Given the description of an element on the screen output the (x, y) to click on. 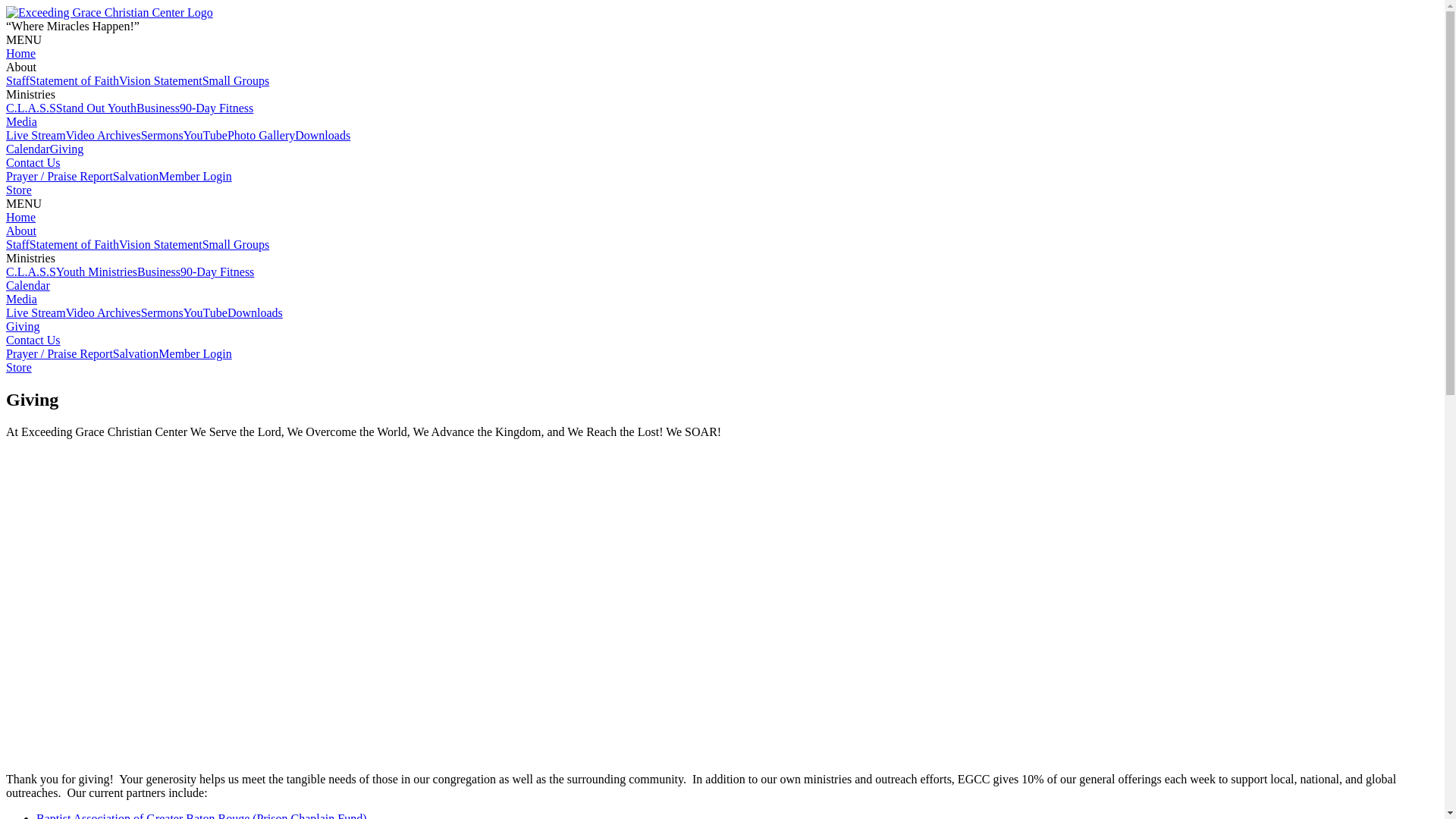
Photo Gallery Element type: text (260, 134)
Live Stream Element type: text (35, 312)
Downloads Element type: text (254, 312)
Prayer / Praise Report Element type: text (59, 353)
Sermons Element type: text (162, 134)
Giving Element type: text (66, 148)
Store Element type: text (18, 366)
Vision Statement Element type: text (160, 244)
Stand Out Youth Element type: text (96, 107)
Business Element type: text (157, 107)
Statement of Faith Element type: text (74, 244)
Salvation Element type: text (135, 353)
About Element type: text (21, 230)
YouTube Element type: text (205, 134)
Staff Element type: text (17, 80)
Home Element type: text (20, 53)
Home Element type: text (20, 216)
Downloads Element type: text (322, 134)
Giving Element type: text (22, 326)
Small Groups Element type: text (235, 80)
Youth Ministries Element type: text (96, 271)
C.L.A.S.S Element type: text (31, 271)
Member Login Element type: text (194, 175)
Statement of Faith Element type: text (74, 80)
Video Archives Element type: text (103, 134)
Member Login Element type: text (194, 353)
Prayer / Praise Report Element type: text (59, 175)
90-Day Fitness Element type: text (216, 107)
Sermons Element type: text (162, 312)
Video Archives Element type: text (103, 312)
Calendar Element type: text (28, 148)
Salvation Element type: text (135, 175)
Contact Us Element type: text (33, 339)
Live Stream Element type: text (35, 134)
Calendar Element type: text (28, 285)
Small Groups Element type: text (235, 244)
Media Element type: text (21, 298)
Contact Us Element type: text (33, 162)
Store Element type: text (18, 189)
C.L.A.S.S Element type: text (31, 107)
Business Element type: text (158, 271)
Staff Element type: text (17, 244)
YouTube Element type: text (205, 312)
Vision Statement Element type: text (160, 80)
90-Day Fitness Element type: text (217, 271)
Media Element type: text (21, 121)
